Given the description of an element on the screen output the (x, y) to click on. 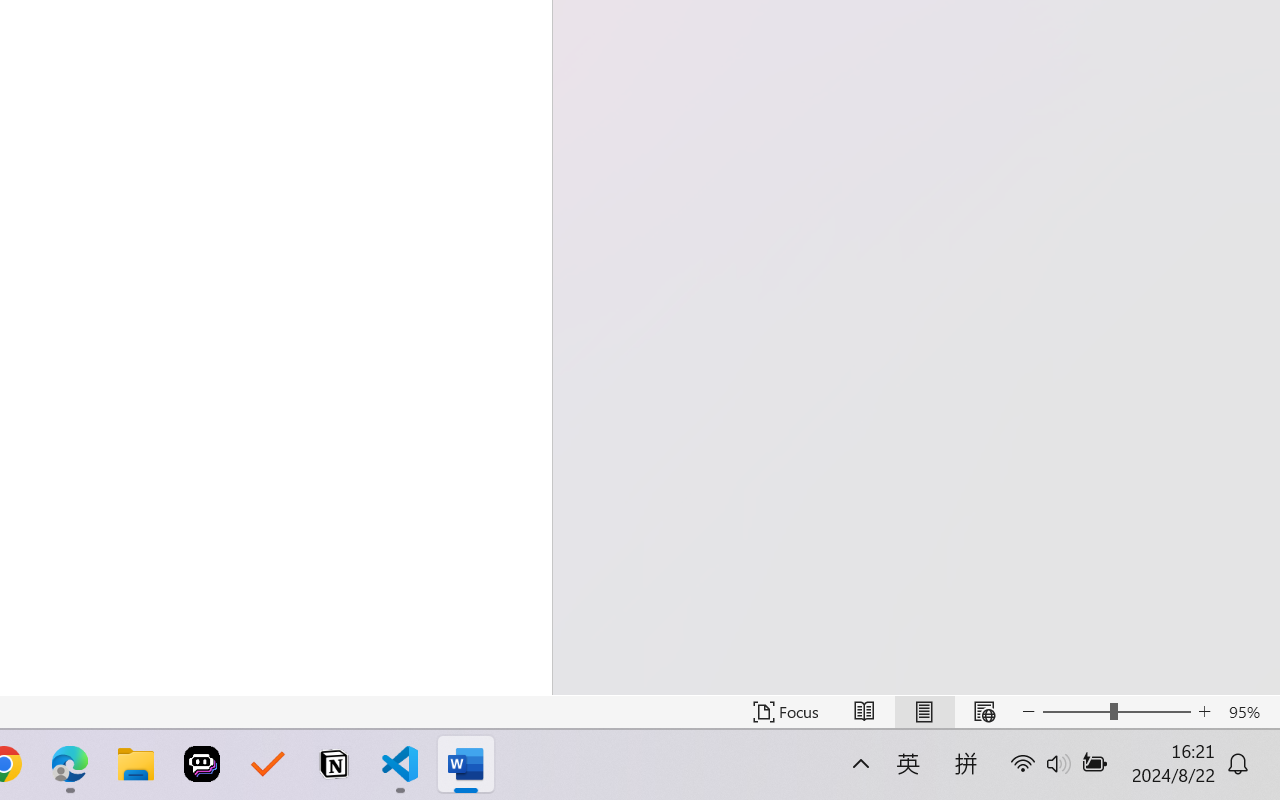
Zoom 95% (1249, 712)
